Given the description of an element on the screen output the (x, y) to click on. 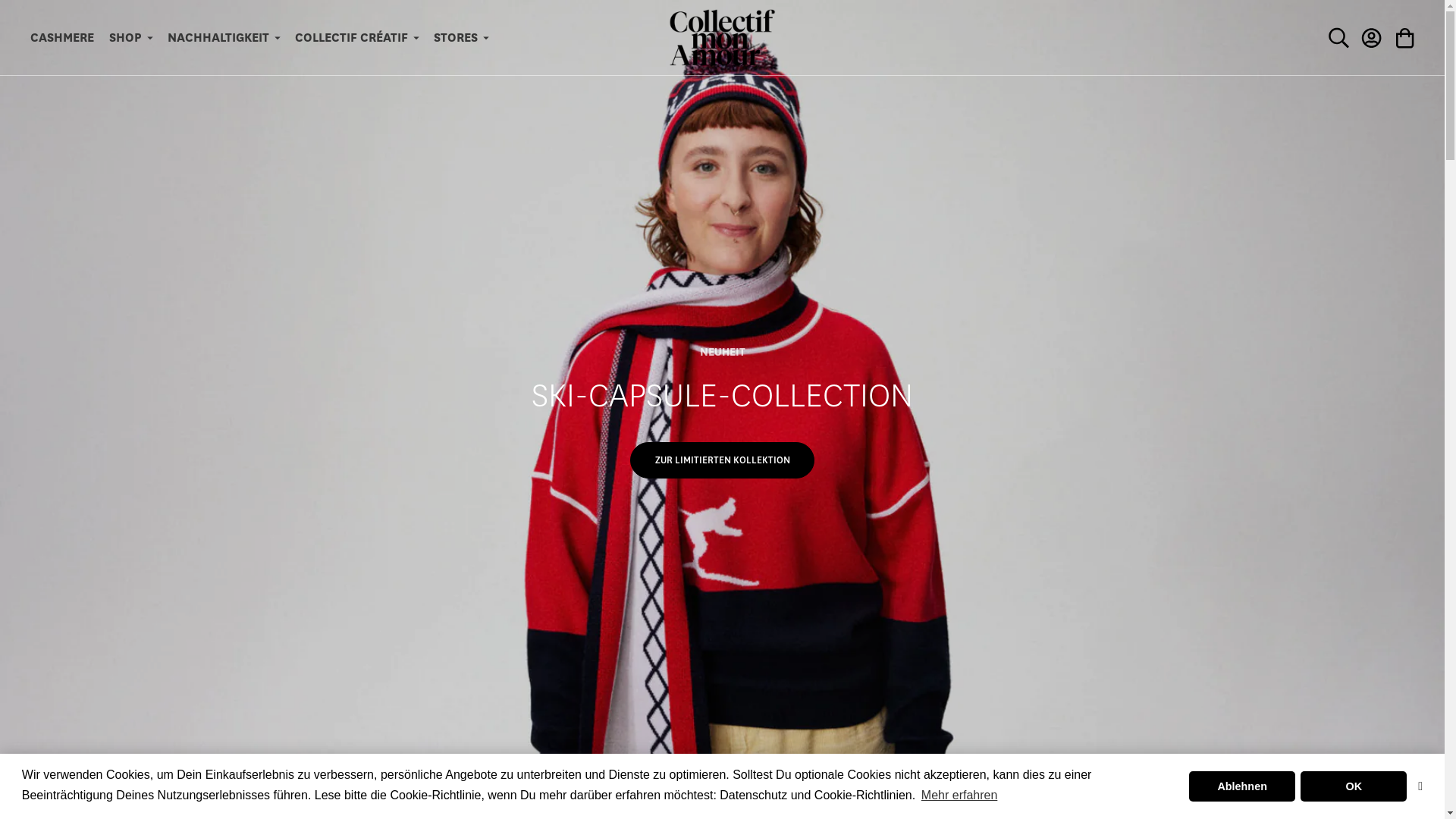
Konto Element type: hover (1371, 37)
NACHHALTIGKEIT Element type: text (223, 37)
Mehr erfahren Element type: text (959, 795)
ZUR LIMITIERTEN KOLLEKTION Element type: text (722, 460)
SHOP Element type: text (130, 37)
Ablehnen Element type: text (1242, 786)
OK Element type: text (1353, 786)
CASHMERE Element type: text (62, 37)
Warenkorb Element type: hover (1404, 37)
STORES Element type: text (460, 37)
Suche Element type: hover (1338, 37)
